Given the description of an element on the screen output the (x, y) to click on. 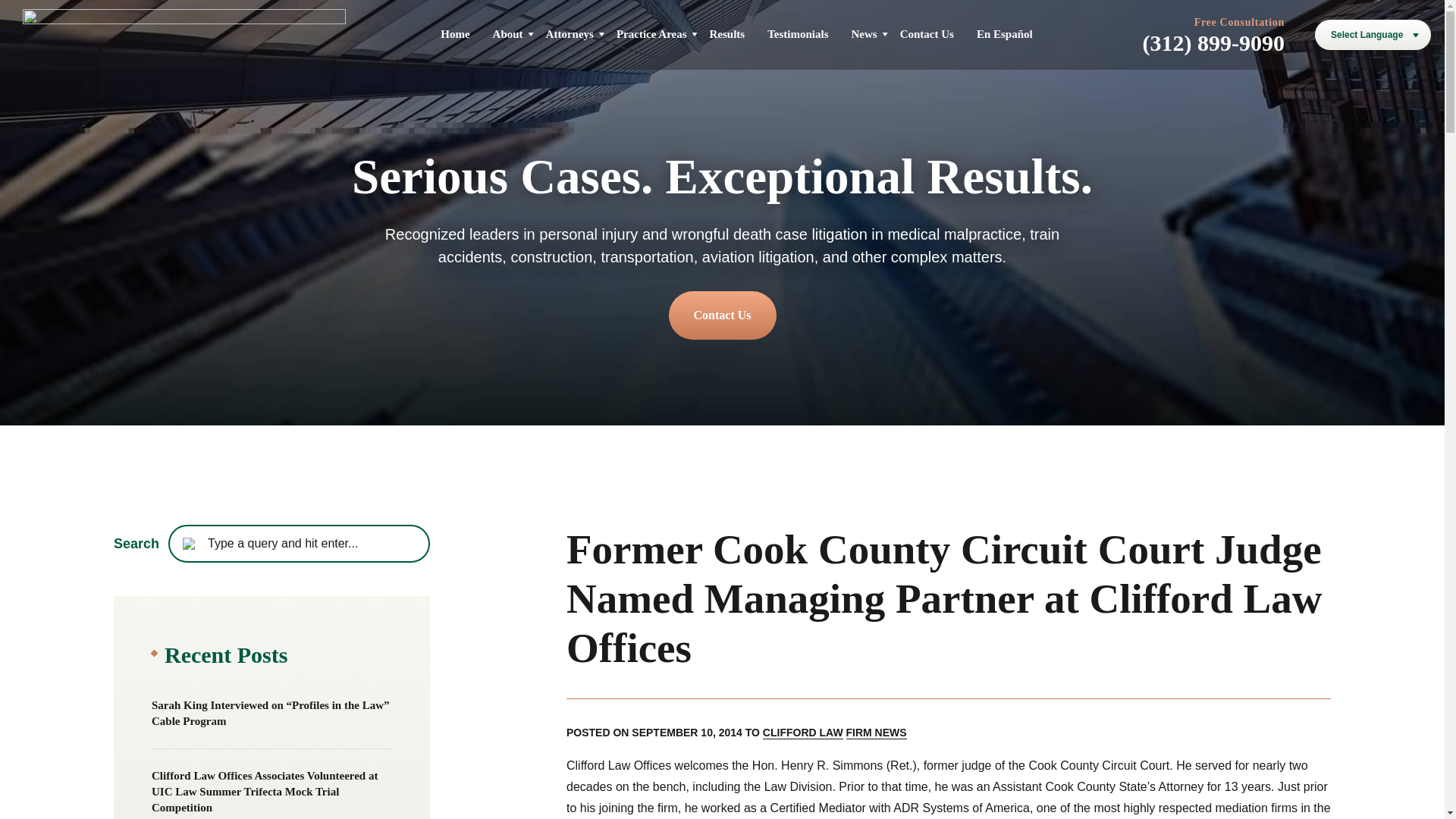
FIRM NEWS (876, 732)
Contact Us (926, 33)
About (507, 33)
Attorneys (570, 33)
Testimonials (797, 33)
Home (454, 33)
Practice Areas (651, 33)
Contact Us (722, 315)
CLIFFORD LAW (802, 732)
Results (727, 33)
